Given the description of an element on the screen output the (x, y) to click on. 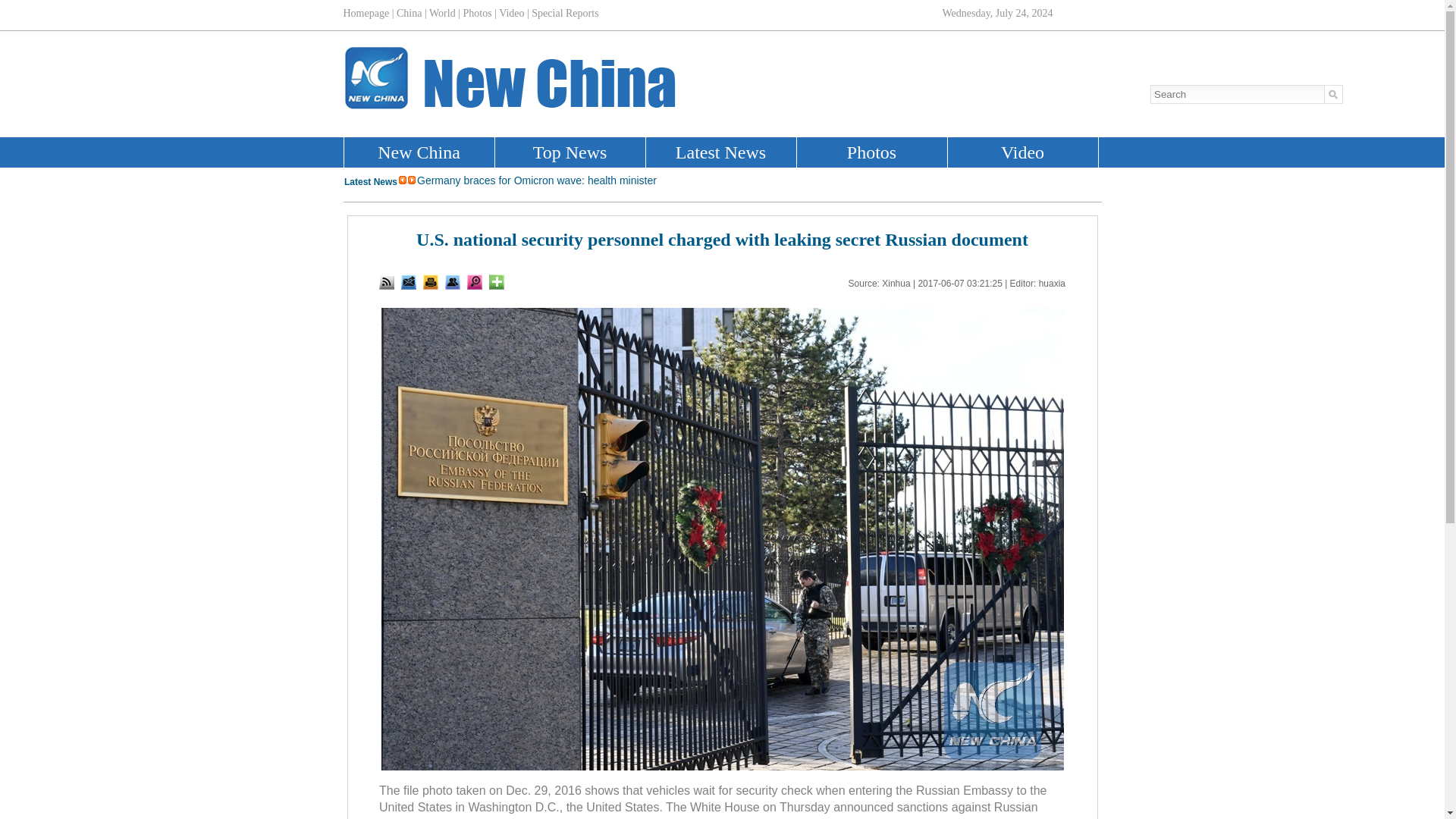
RSS (386, 281)
Print (430, 281)
Large image (474, 281)
Copy URL (452, 281)
More (496, 281)
Feedback (408, 281)
